Given the description of an element on the screen output the (x, y) to click on. 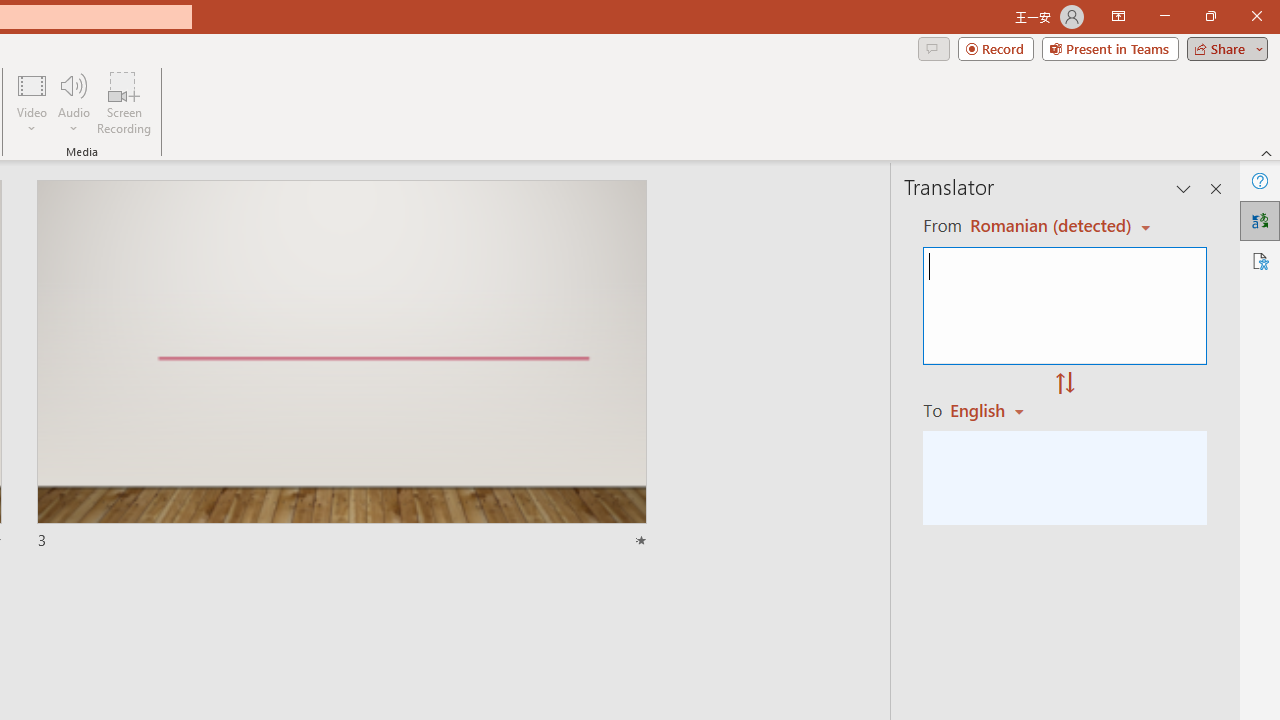
Screen Recording... (123, 102)
Audio (73, 102)
Romanian (994, 409)
